Given the description of an element on the screen output the (x, y) to click on. 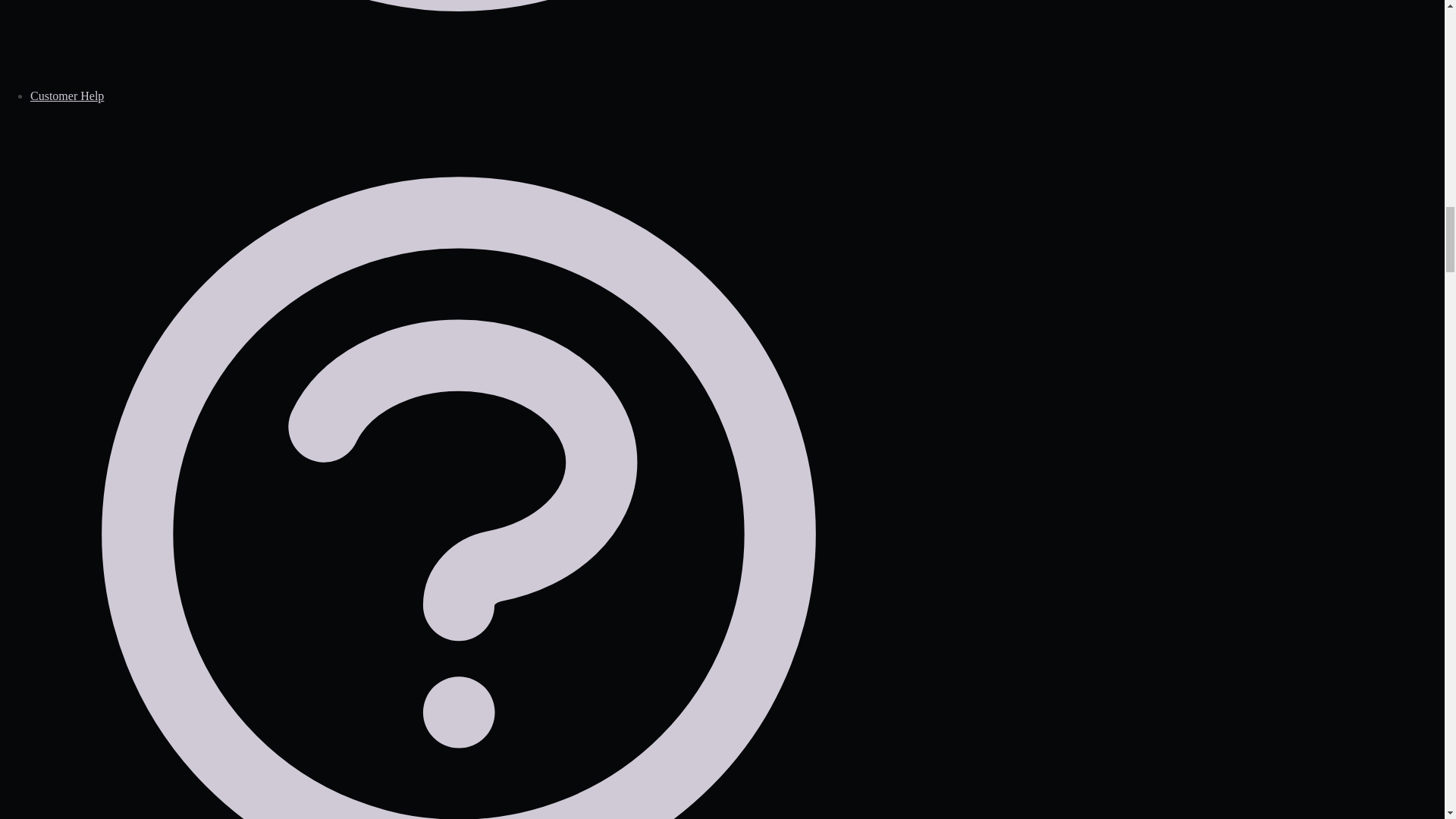
My account (458, 44)
